Given the description of an element on the screen output the (x, y) to click on. 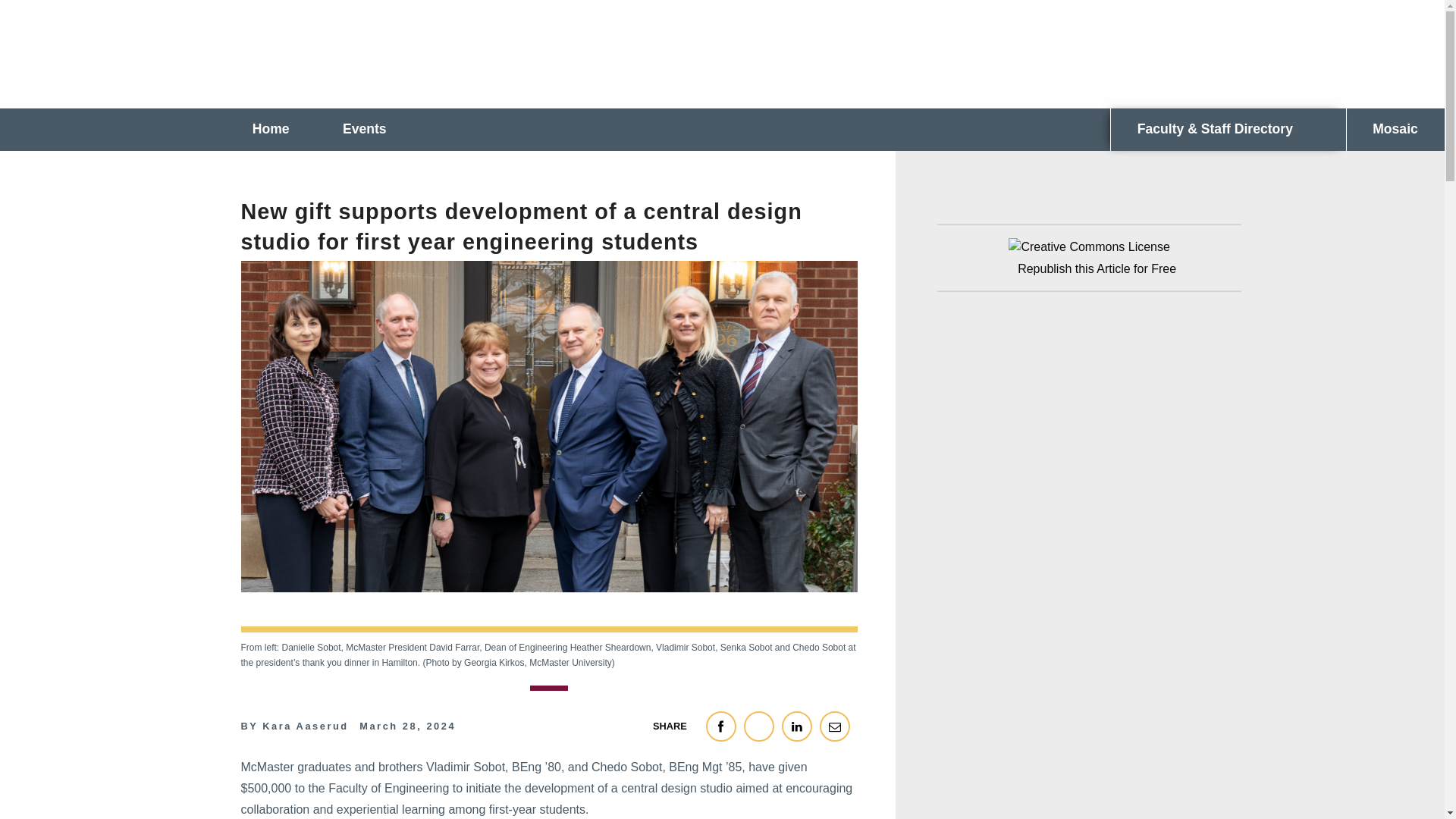
Events (364, 129)
Mosaic (1394, 129)
Home (259, 129)
